Given the description of an element on the screen output the (x, y) to click on. 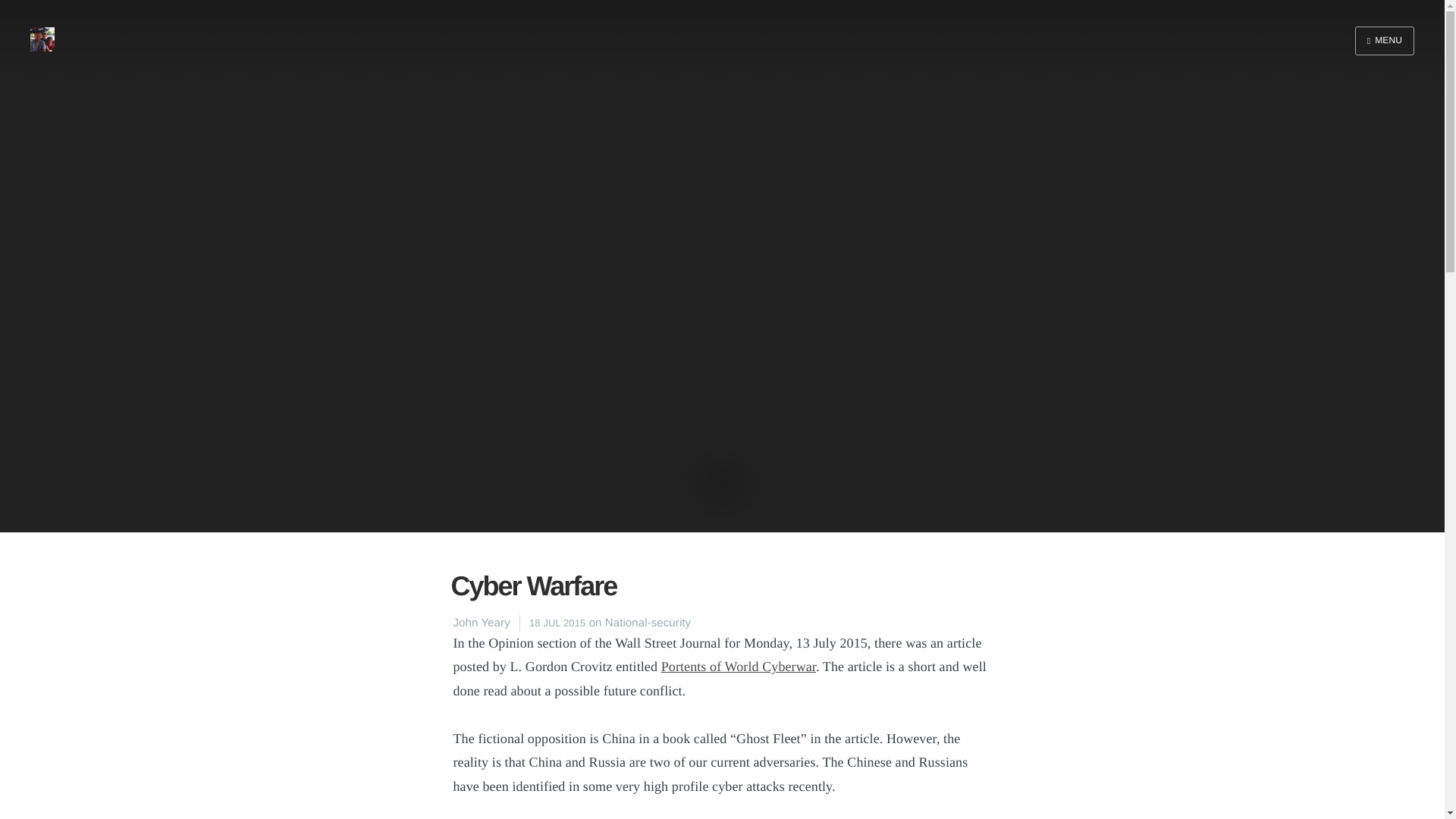
John Yeary (31, 804)
Portents of World Cyberwar (738, 666)
Jekyll (1375, 804)
MENU (1384, 40)
National-security (647, 622)
John Yeary (481, 622)
Jasper (1419, 804)
